Given the description of an element on the screen output the (x, y) to click on. 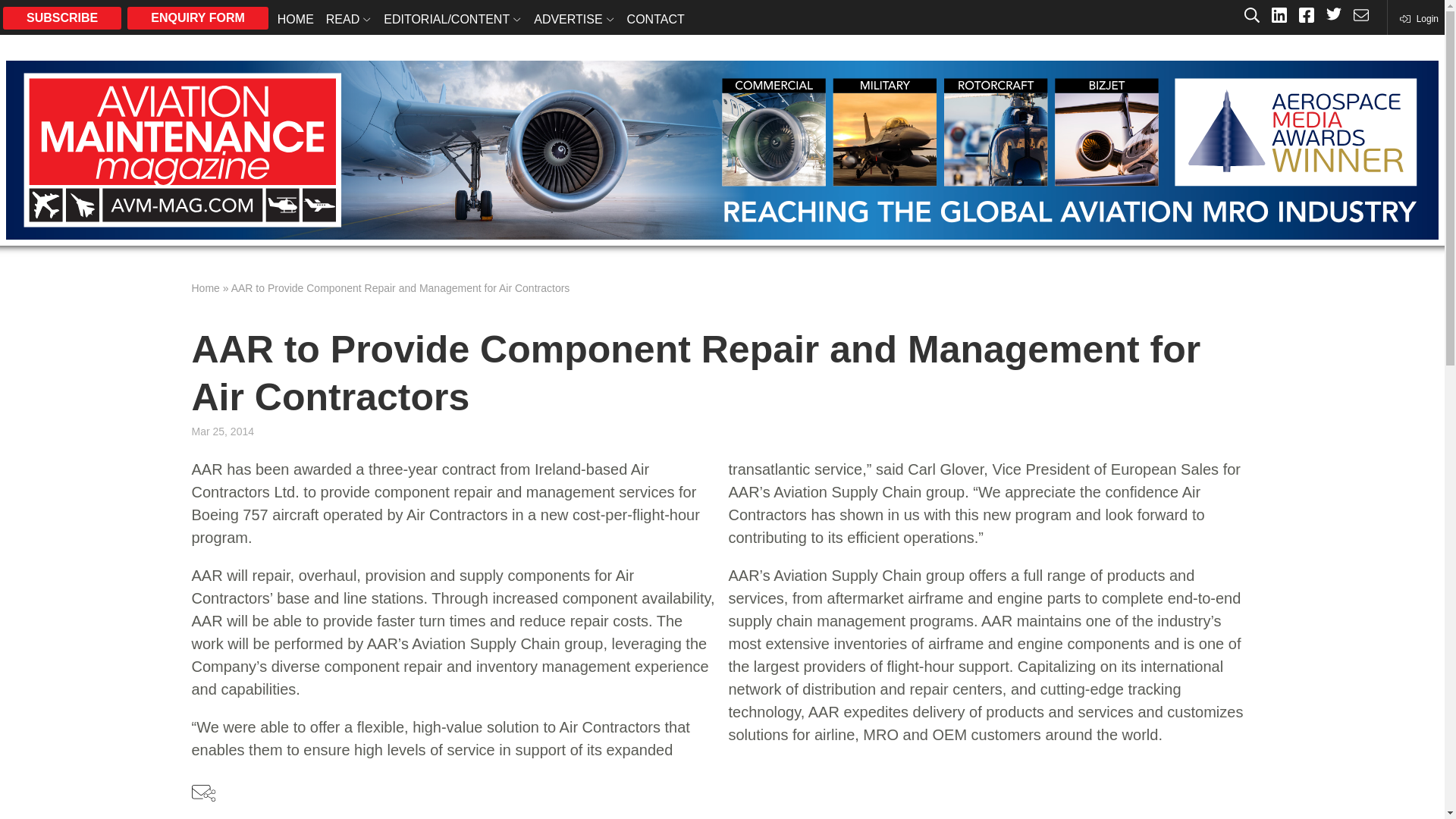
READ (348, 18)
Aviation Maintenance Magazine Twitter Page (1333, 17)
CONTACT (655, 18)
Aviation Maintenance Magazine Facebook Page (1306, 17)
login-icon (1418, 18)
HOME (295, 18)
ADVERTISE (573, 18)
ENQUIRY FORM (197, 16)
Login (1418, 18)
Share by Email (202, 793)
